Given the description of an element on the screen output the (x, y) to click on. 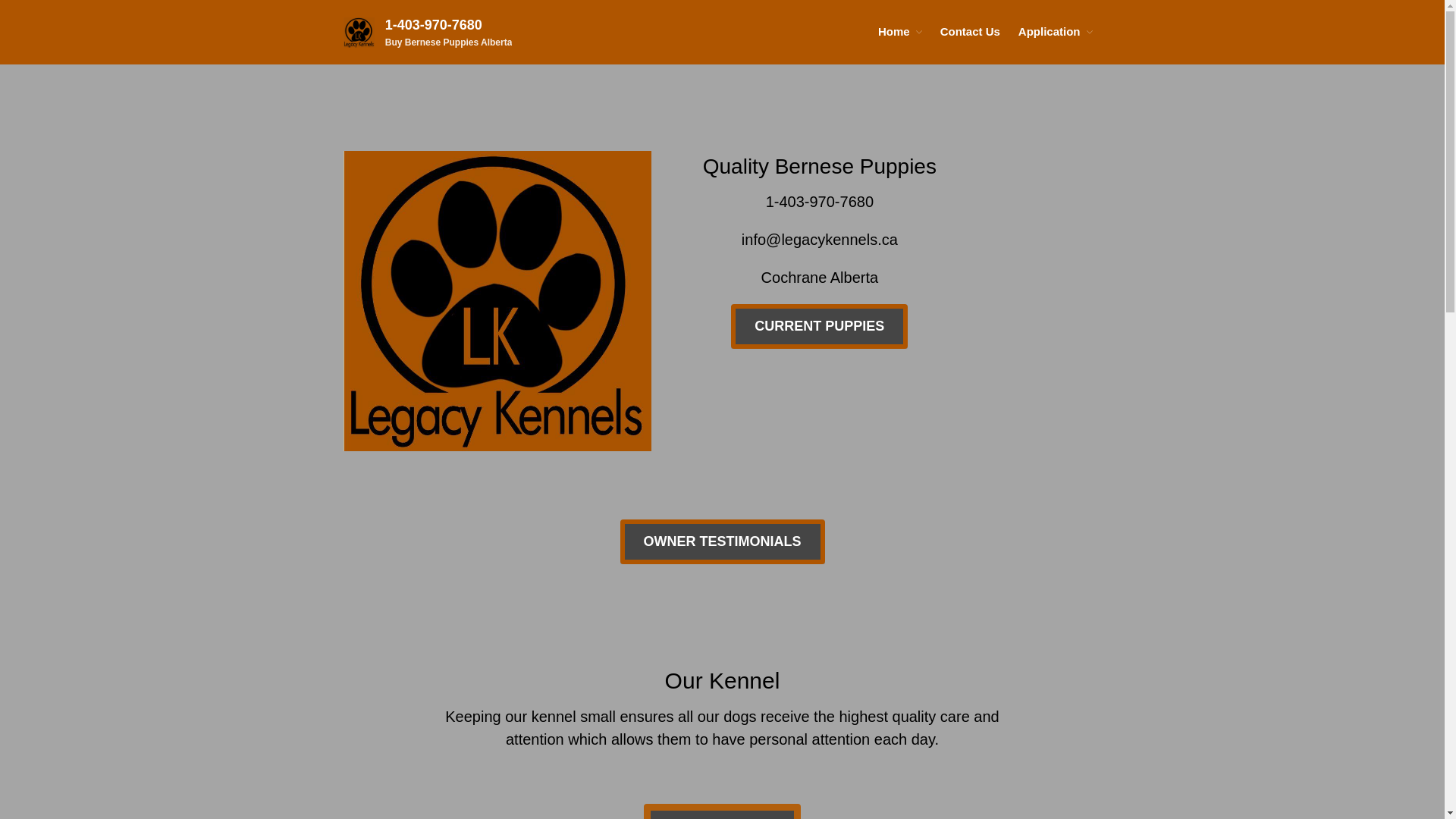
1-403-970-7680 Element type: text (433, 24)
Quality Bernese Puppies Element type: text (819, 166)
CURRENT PUPPIES Element type: text (819, 326)
Application Element type: text (1055, 31)
Home Element type: text (899, 31)
OWNER TESTIMONIALS Element type: text (722, 541)
Contact Us Element type: text (969, 31)
